Given the description of an element on the screen output the (x, y) to click on. 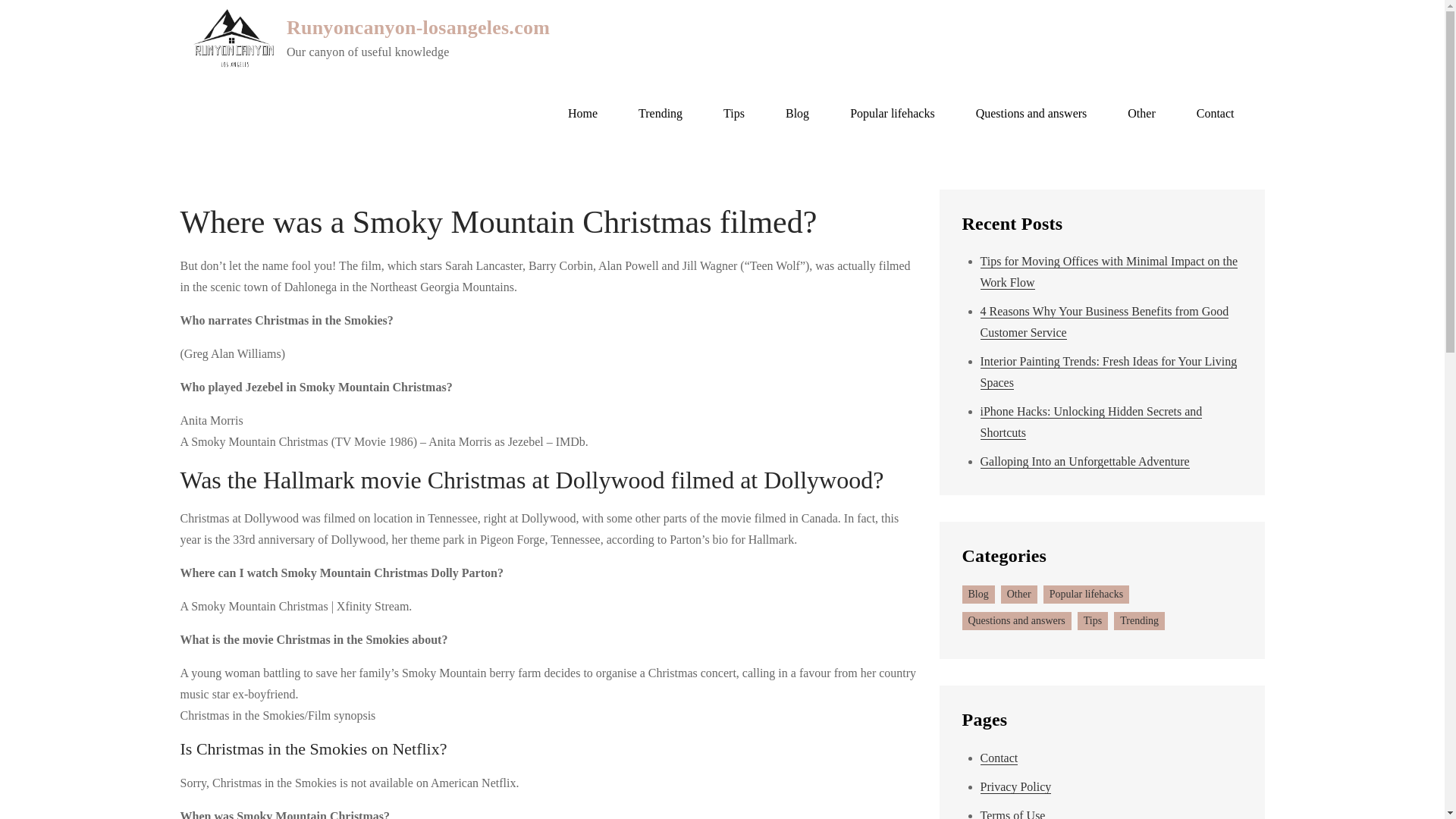
Terms of Use (1012, 814)
Questions and answers (1015, 620)
Home (581, 113)
Trending (660, 113)
Tips (1092, 620)
Contact (998, 757)
Popular lifehacks (1086, 594)
Contact (1215, 113)
Trending (1138, 620)
Tips (733, 113)
iPhone Hacks: Unlocking Hidden Secrets and Shortcuts (1090, 421)
Other (1018, 594)
Other (1140, 113)
Blog (977, 594)
